Given the description of an element on the screen output the (x, y) to click on. 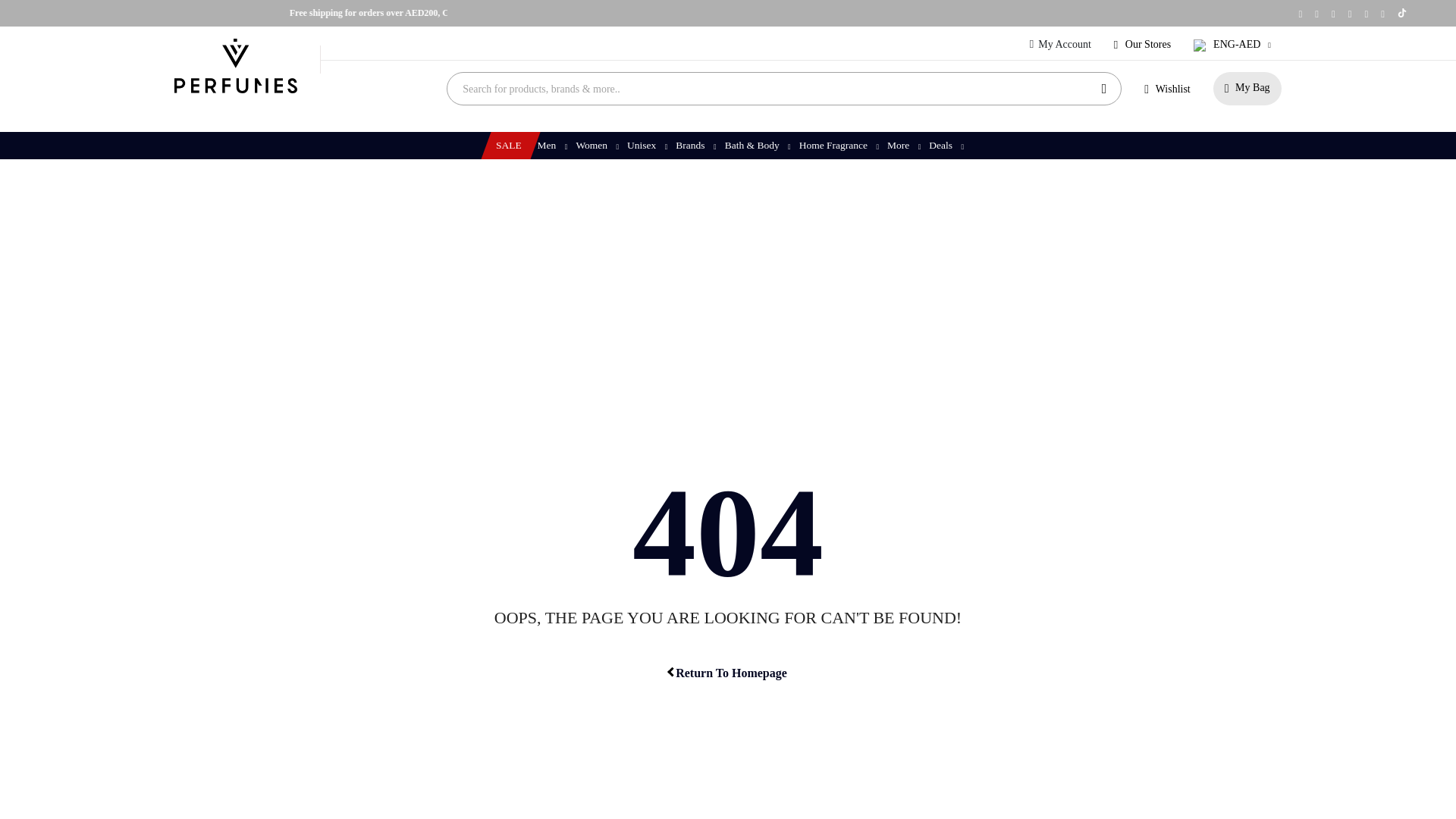
Men (551, 144)
Women (595, 144)
Return To Homepage (727, 672)
Brands (694, 144)
More (902, 144)
Deals (944, 144)
Our Stores (1141, 43)
SALE (507, 144)
Unisex (645, 144)
Wishlist (1166, 89)
Home Fragrance (837, 144)
ENG-AED (1234, 44)
My Bag (1246, 88)
